Given the description of an element on the screen output the (x, y) to click on. 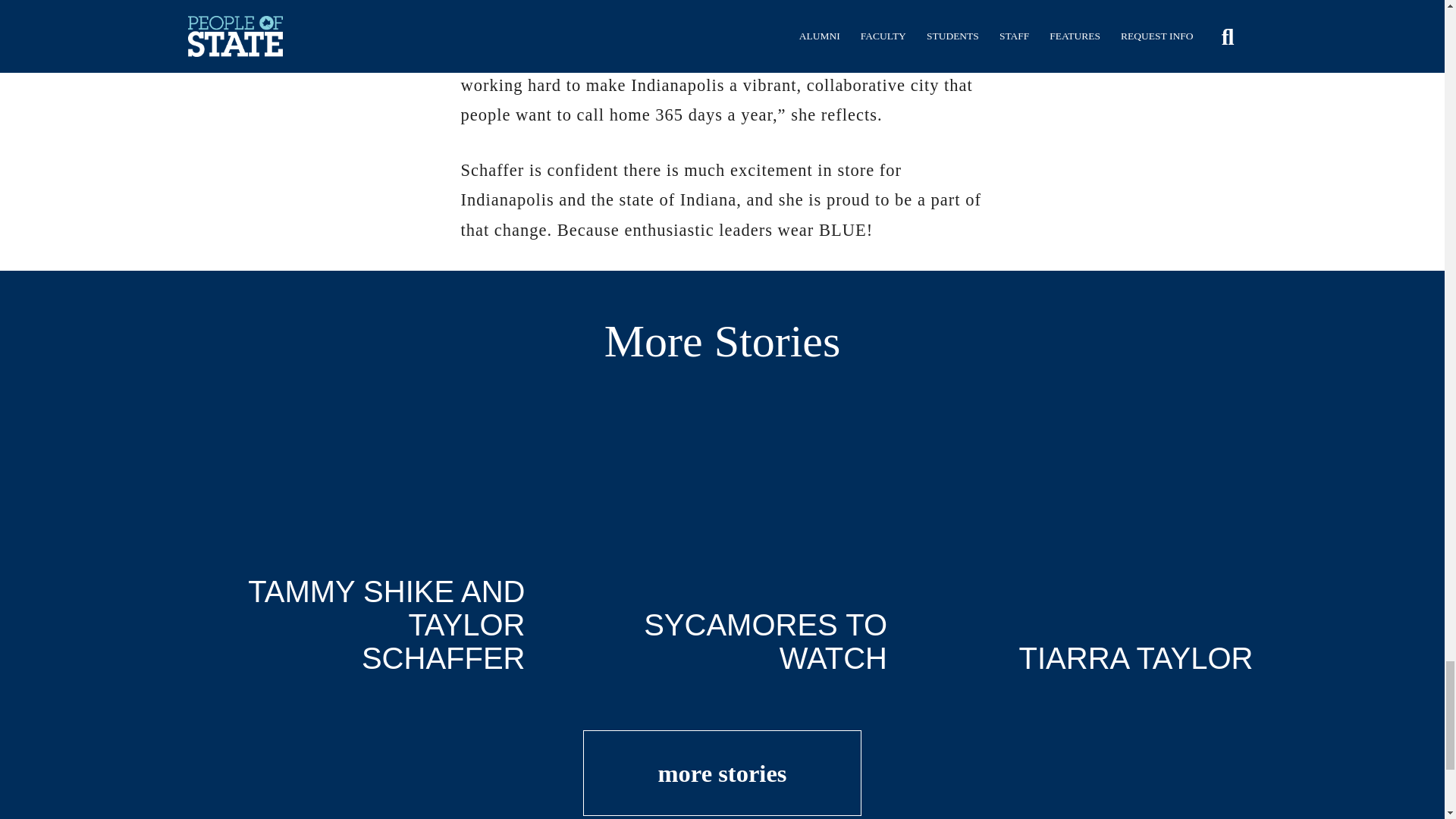
TIARRA TAYLOR (1086, 547)
more stories (722, 772)
SYCAMORES TO WATCH (721, 547)
TAMMY SHIKE AND TAYLOR SCHAFFER (358, 547)
